Given the description of an element on the screen output the (x, y) to click on. 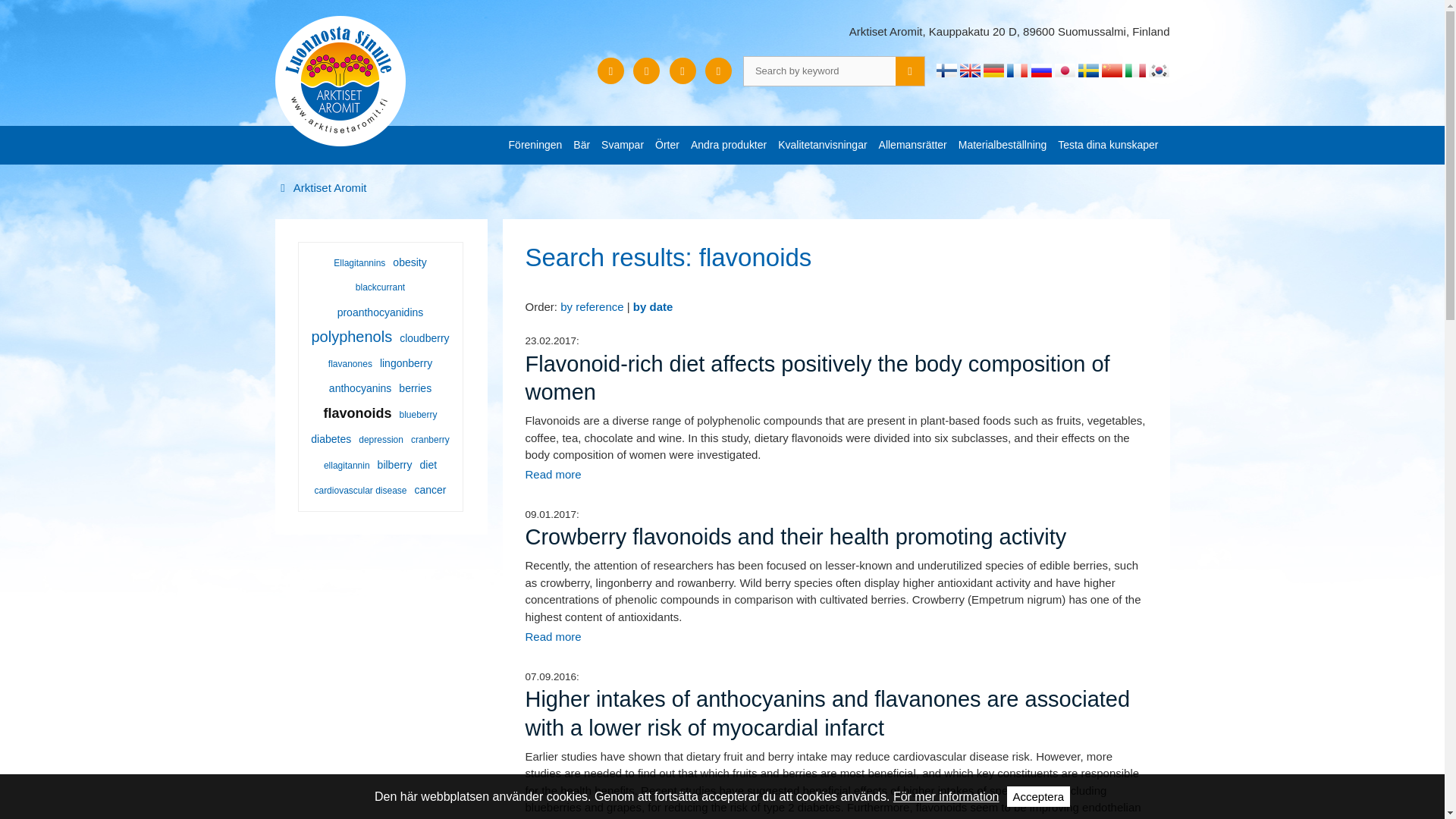
Arktiset Aromit Facebook (646, 70)
diabetes (331, 439)
anthocyanins (360, 388)
Arktiset Aromit (320, 187)
blackcurrant (380, 287)
cloudberry (424, 338)
polyphenols (351, 336)
Kvalitetanvisningar (821, 144)
lingonberry (405, 363)
Andra produkter (728, 144)
Arktiset Aromit etusivulle (339, 80)
Arktiset Aromit Twitter (682, 70)
obesity (408, 262)
Crowberry flavonoids and their health promoting activity (552, 635)
